Given the description of an element on the screen output the (x, y) to click on. 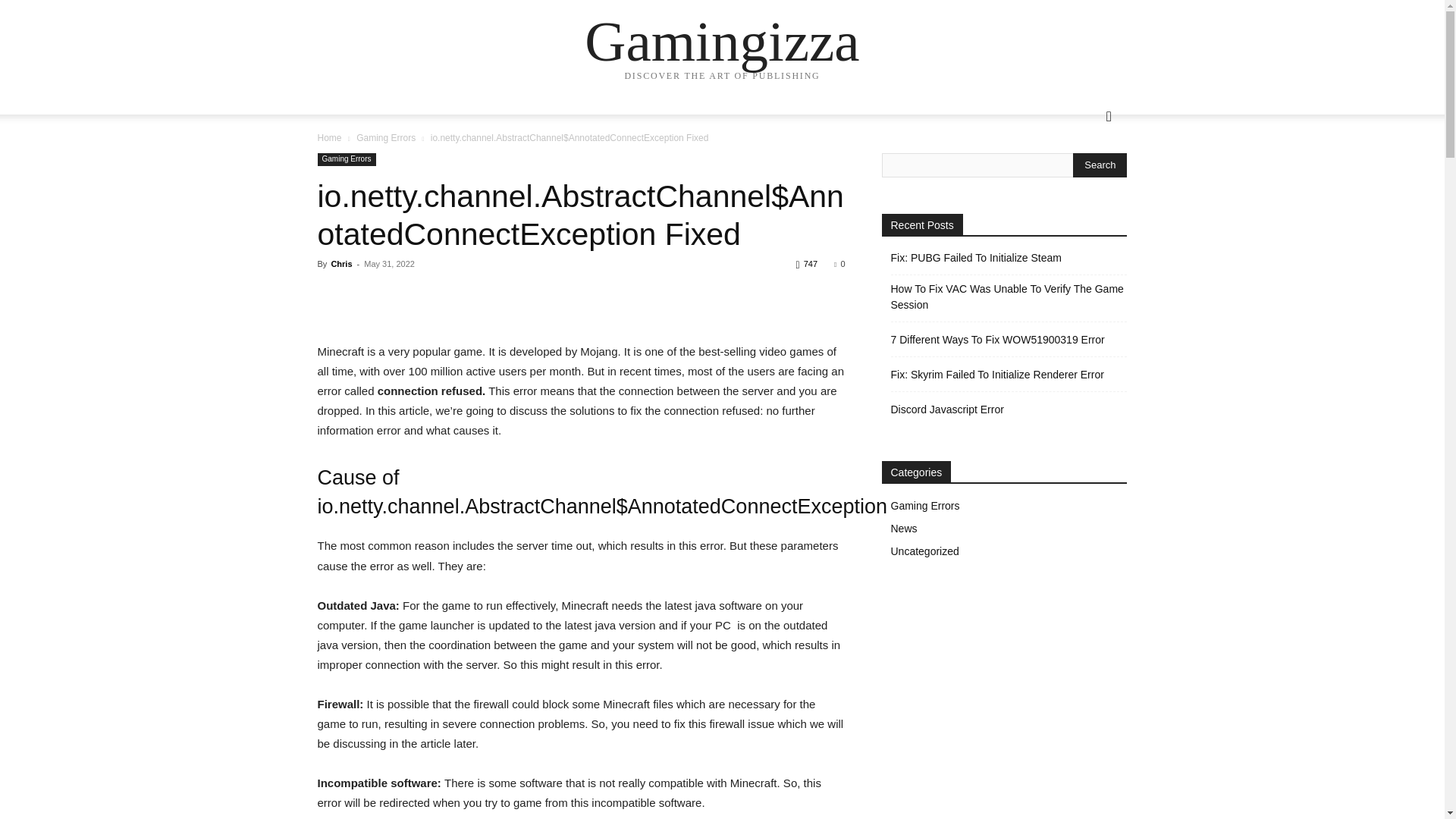
Home (328, 137)
Fix: PUBG Failed To Initialize Steam (975, 258)
Fix: Skyrim Failed To Initialize Renderer Error (996, 374)
0 (839, 263)
Gaming Errors (385, 137)
How To Fix VAC Was Unable To Verify The Game Session (1007, 296)
View all posts in Gaming Errors (385, 137)
Search (1085, 177)
Search (1099, 165)
Gamingizza (722, 41)
